Given the description of an element on the screen output the (x, y) to click on. 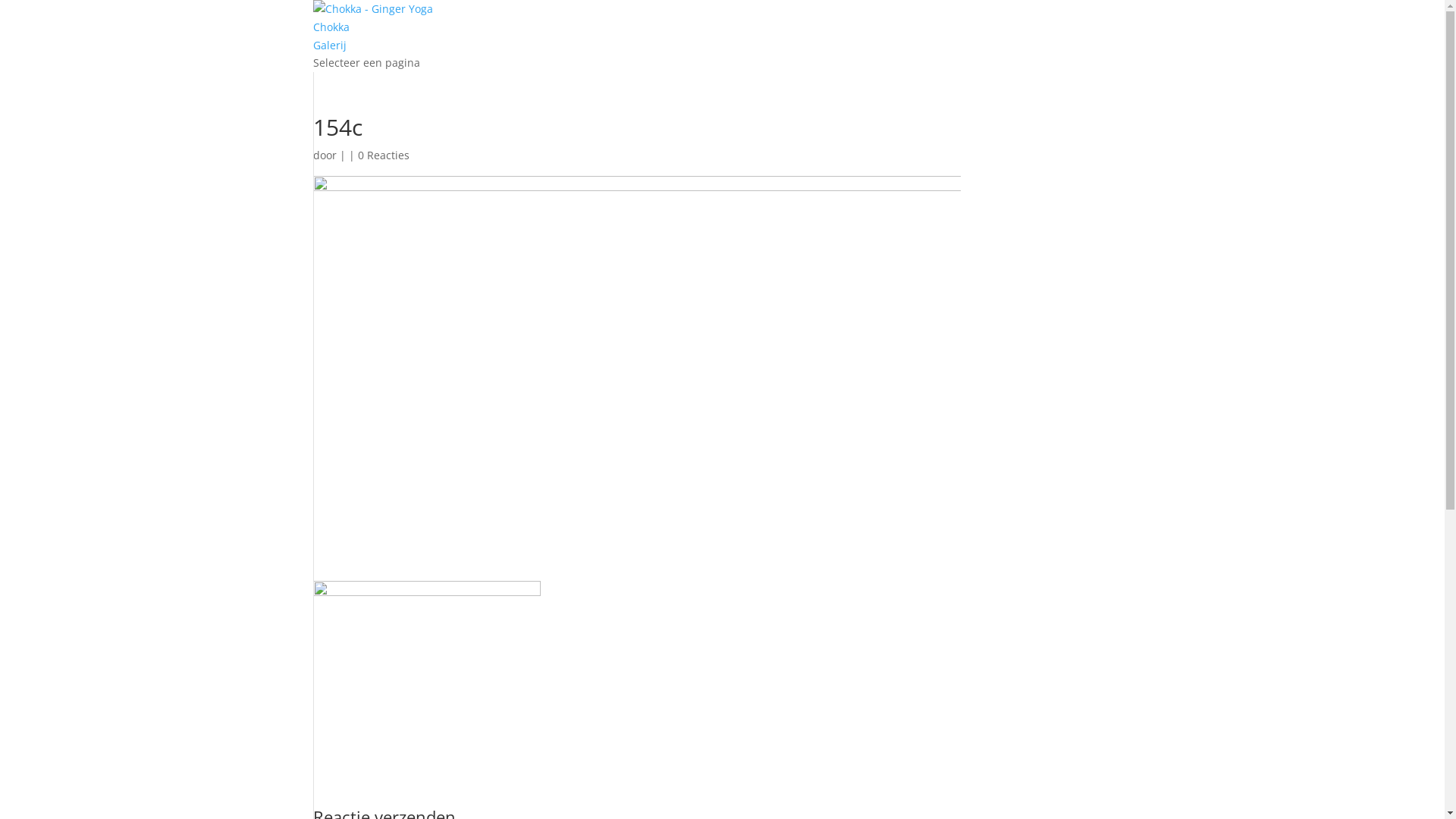
Galerij Element type: text (328, 44)
0 Reacties Element type: text (383, 154)
Chokka Element type: text (330, 26)
